Given the description of an element on the screen output the (x, y) to click on. 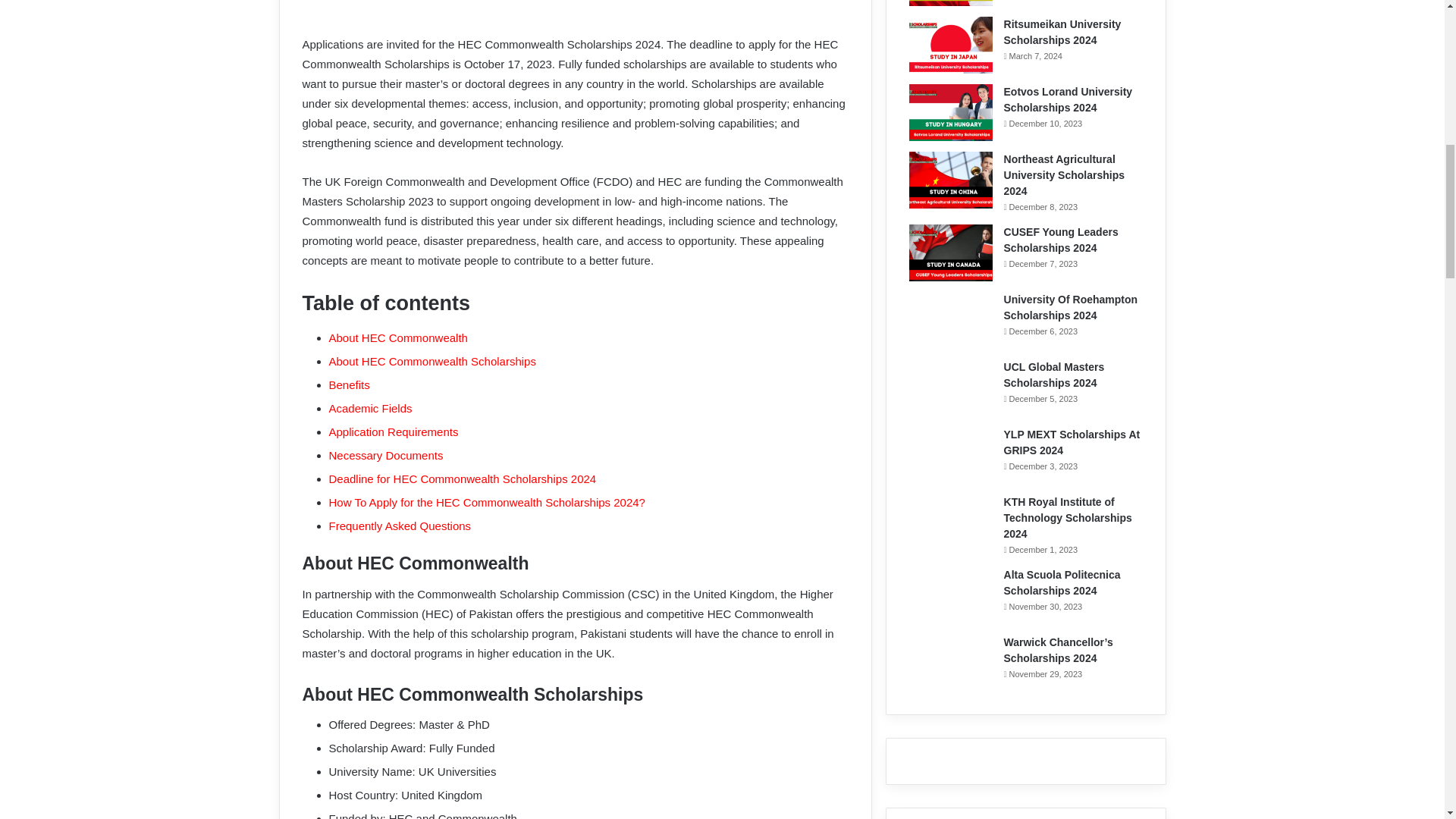
Application Requirements (393, 431)
Benefits (349, 384)
About HEC Commonwealth Scholarships (432, 360)
About HEC Commonwealth (398, 337)
Deadline for HEC Commonwealth Scholarships 2024 (462, 478)
How To Apply for the HEC Commonwealth Scholarships 2024? (487, 502)
Academic Fields (370, 408)
Frequently Asked Questions (400, 525)
Necessary Documents (386, 454)
